Given the description of an element on the screen output the (x, y) to click on. 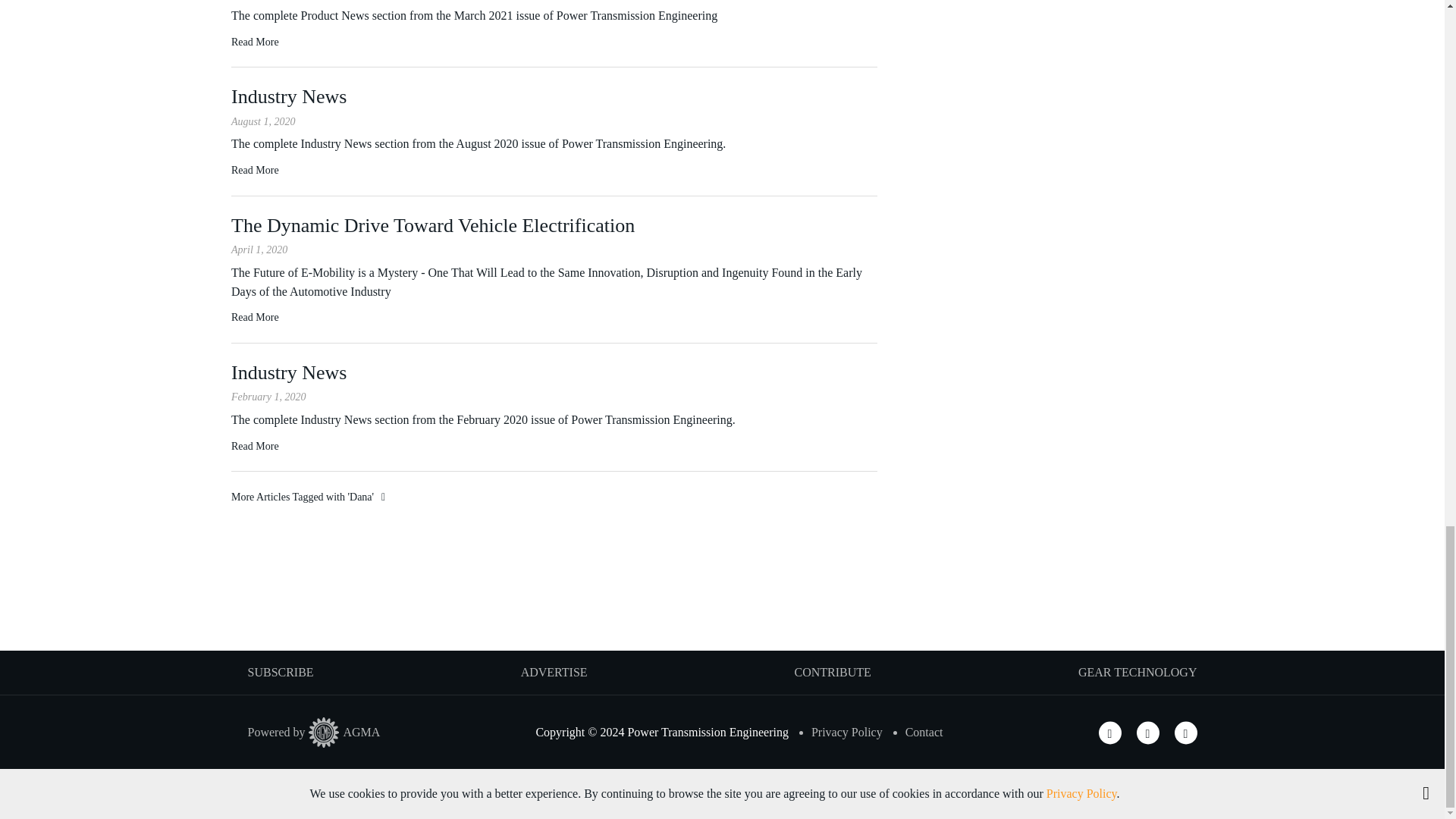
Industry News (255, 170)
Product News (255, 41)
The Dynamic Drive Toward Vehicle Electrification (255, 316)
Industry News (255, 446)
